Given the description of an element on the screen output the (x, y) to click on. 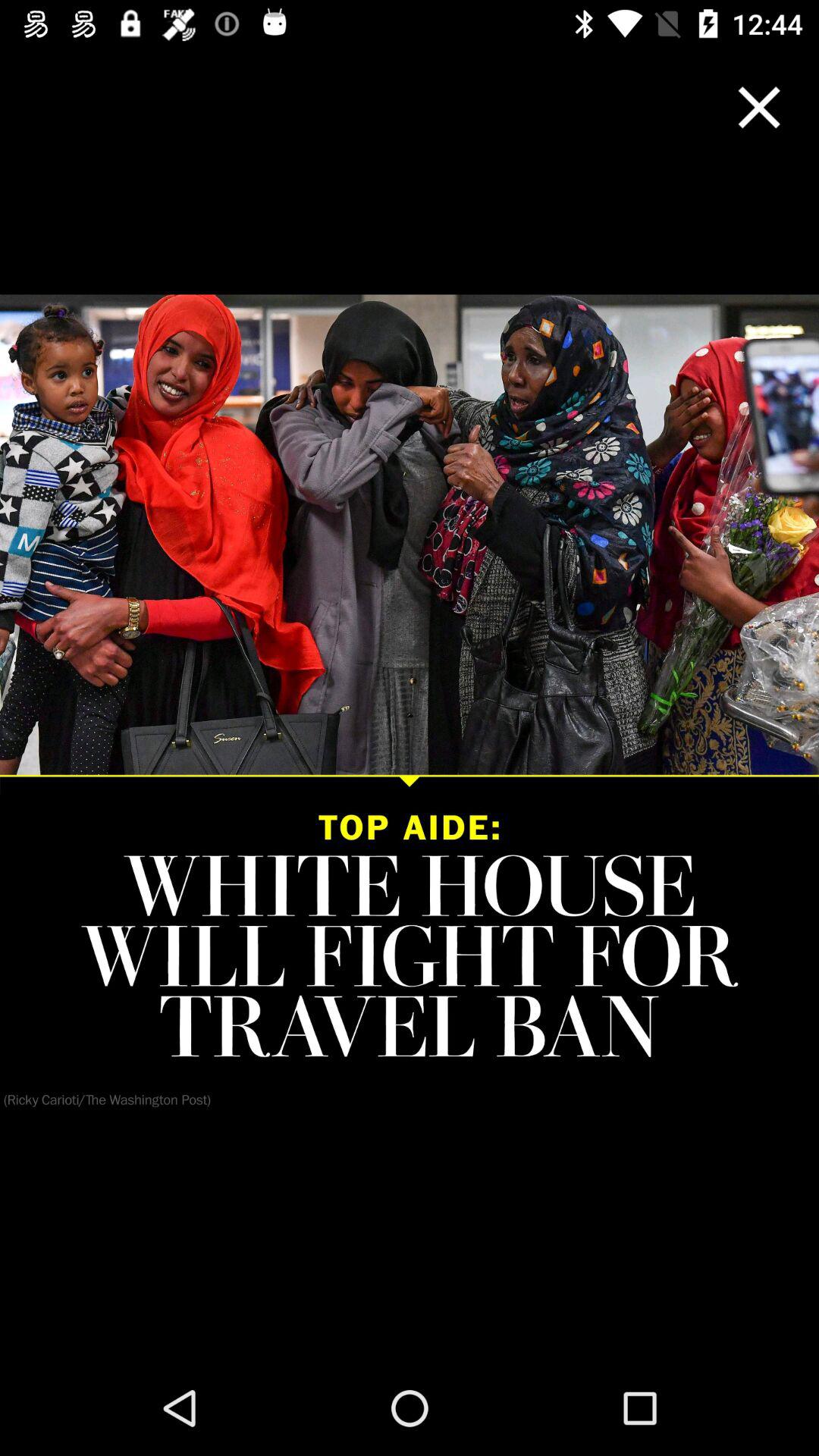
tap icon at the top right corner (759, 107)
